Given the description of an element on the screen output the (x, y) to click on. 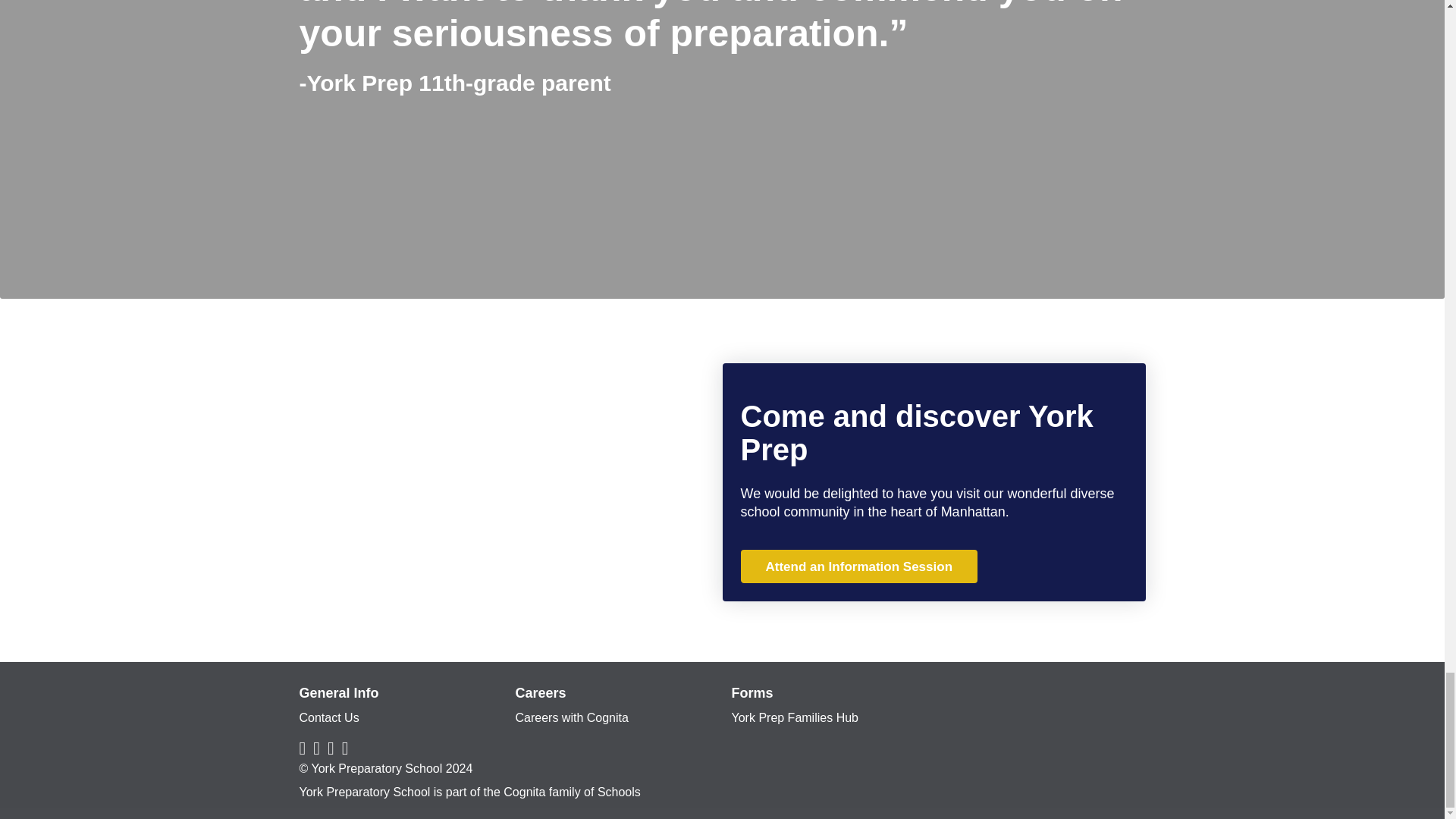
YouTube (330, 747)
Instagram (316, 747)
Linkedin (345, 747)
Facebook (301, 747)
Attend an Information Session (857, 566)
Contact Us (328, 717)
